Given the description of an element on the screen output the (x, y) to click on. 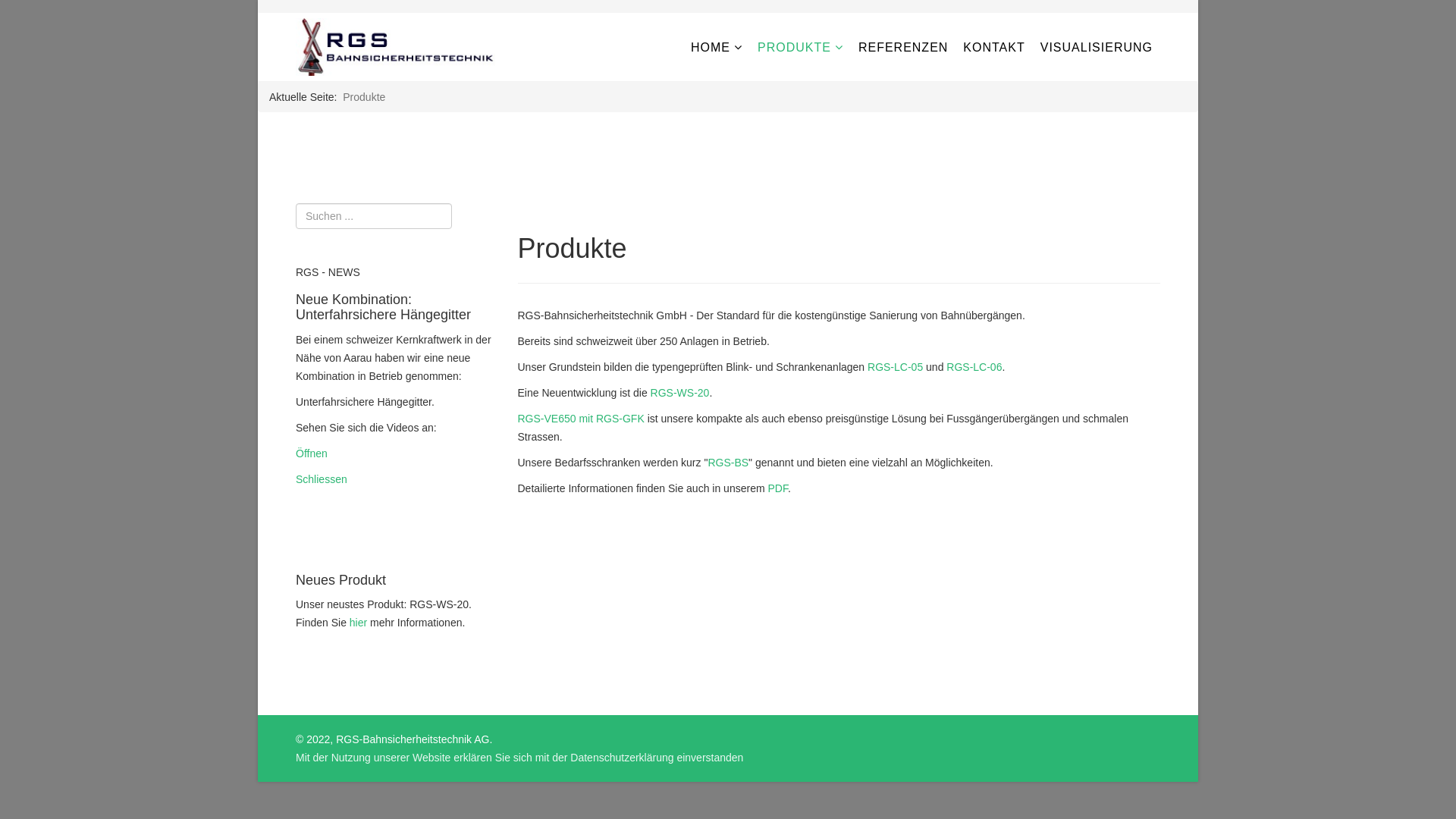
RGS-LC-06 Element type: text (973, 366)
PDF Element type: text (777, 488)
Schliessen Element type: text (321, 479)
RGS-LC-05 Element type: text (894, 366)
KONTAKT Element type: text (993, 47)
HOME Element type: text (716, 46)
RGS-BS Element type: text (727, 462)
VISUALISIERUNG Element type: text (1096, 47)
REFERENZEN Element type: text (902, 47)
PRODUKTE Element type: text (799, 46)
RGS-WS-20 Element type: text (679, 392)
RGS-VE650 mit RGS-GFK Element type: text (580, 418)
hier Element type: text (359, 622)
